Given the description of an element on the screen output the (x, y) to click on. 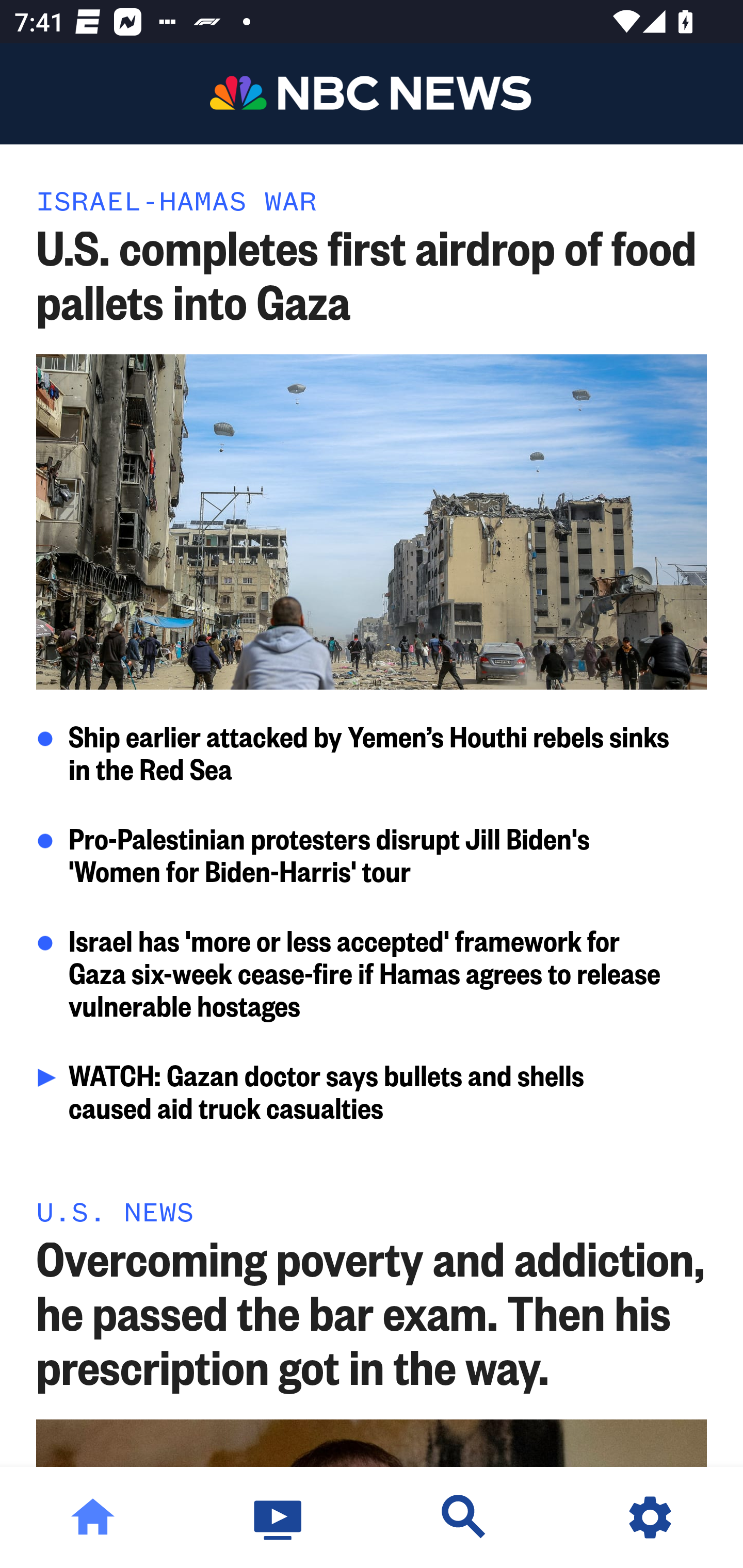
Watch (278, 1517)
Discover (464, 1517)
Settings (650, 1517)
